Given the description of an element on the screen output the (x, y) to click on. 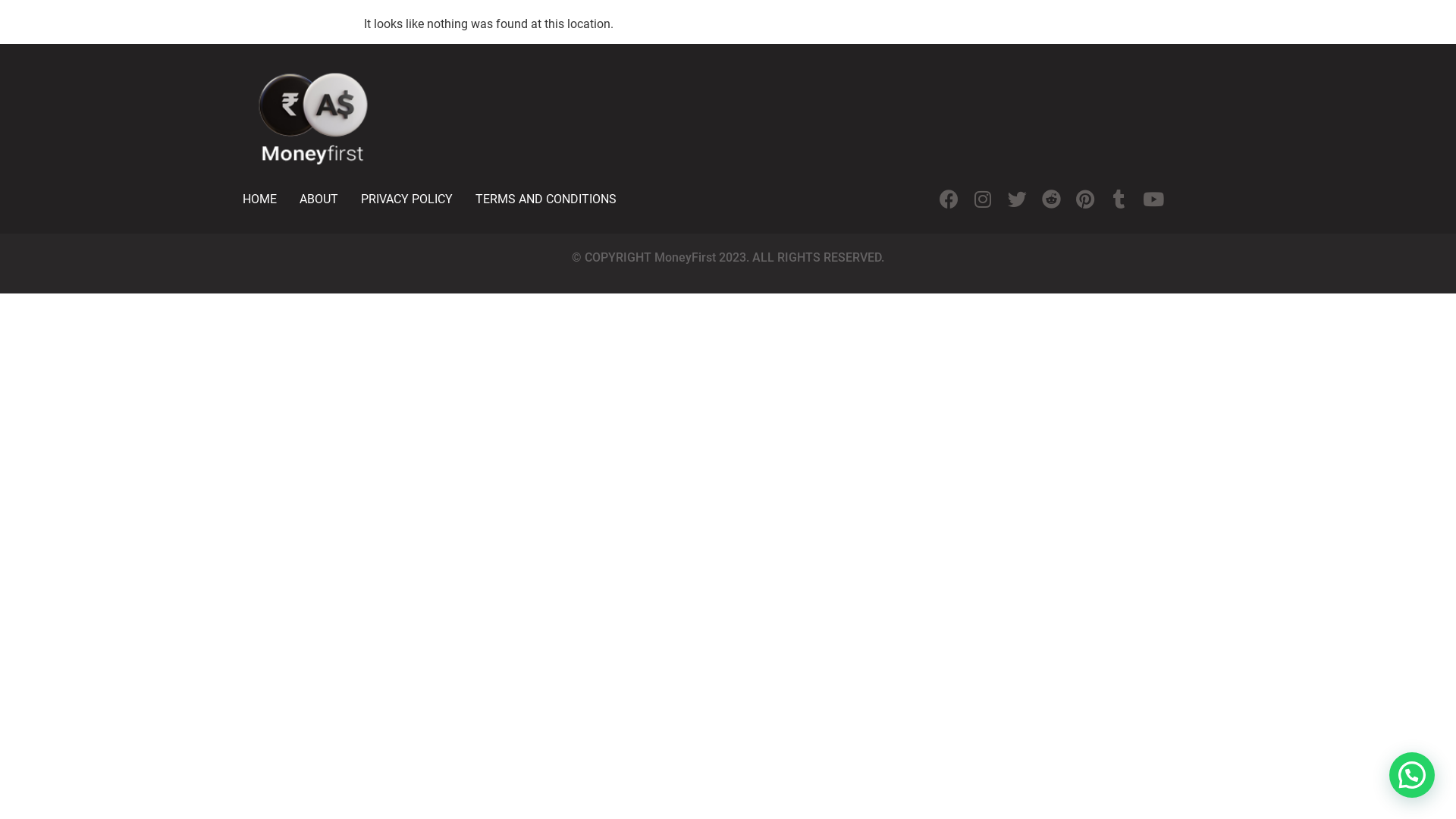
TERMS AND CONDITIONS Element type: text (545, 199)
HOME Element type: text (259, 199)
PRIVACY POLICY Element type: text (406, 199)
ABOUT Element type: text (318, 199)
